Given the description of an element on the screen output the (x, y) to click on. 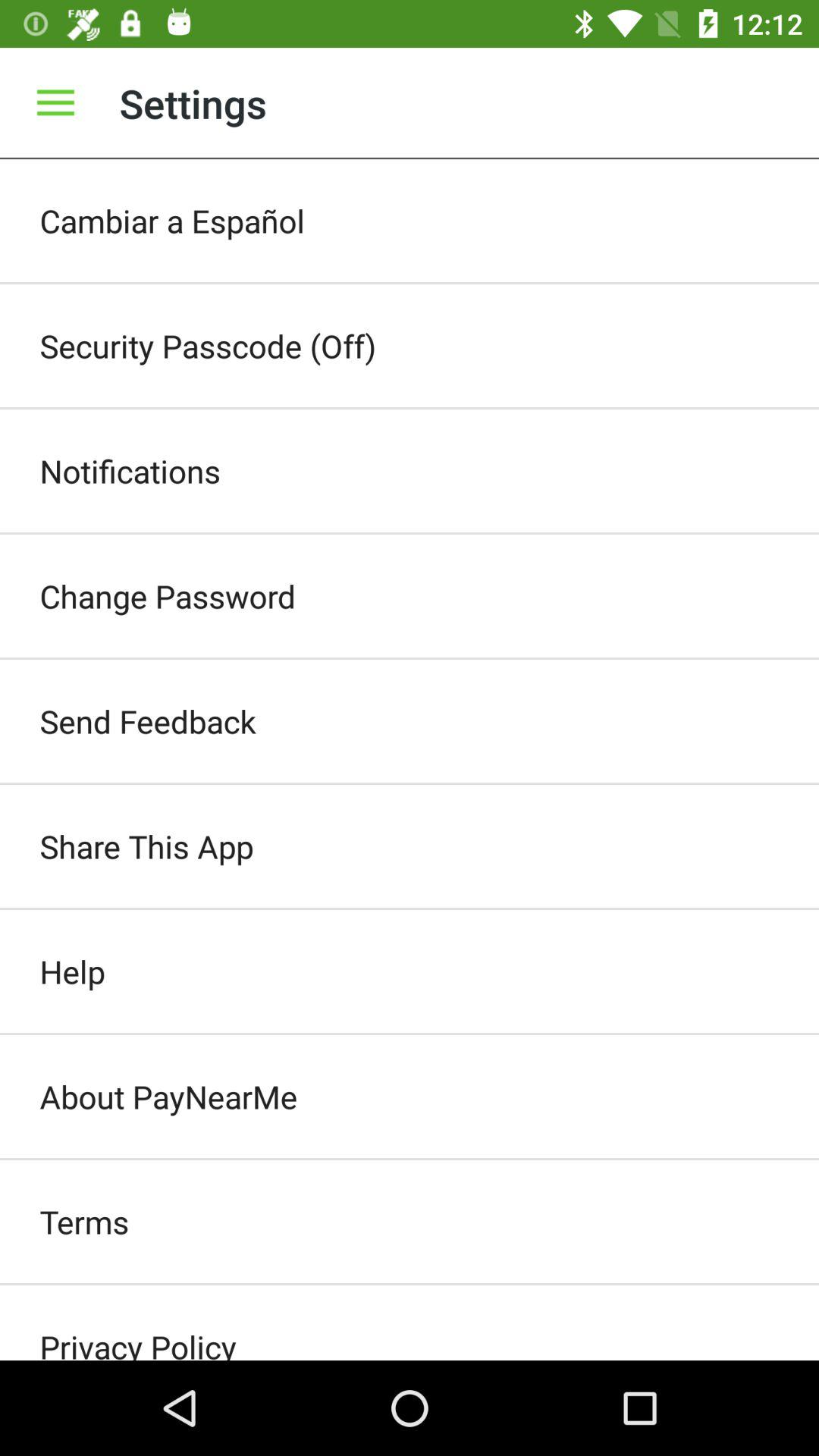
select change password item (409, 595)
